Given the description of an element on the screen output the (x, y) to click on. 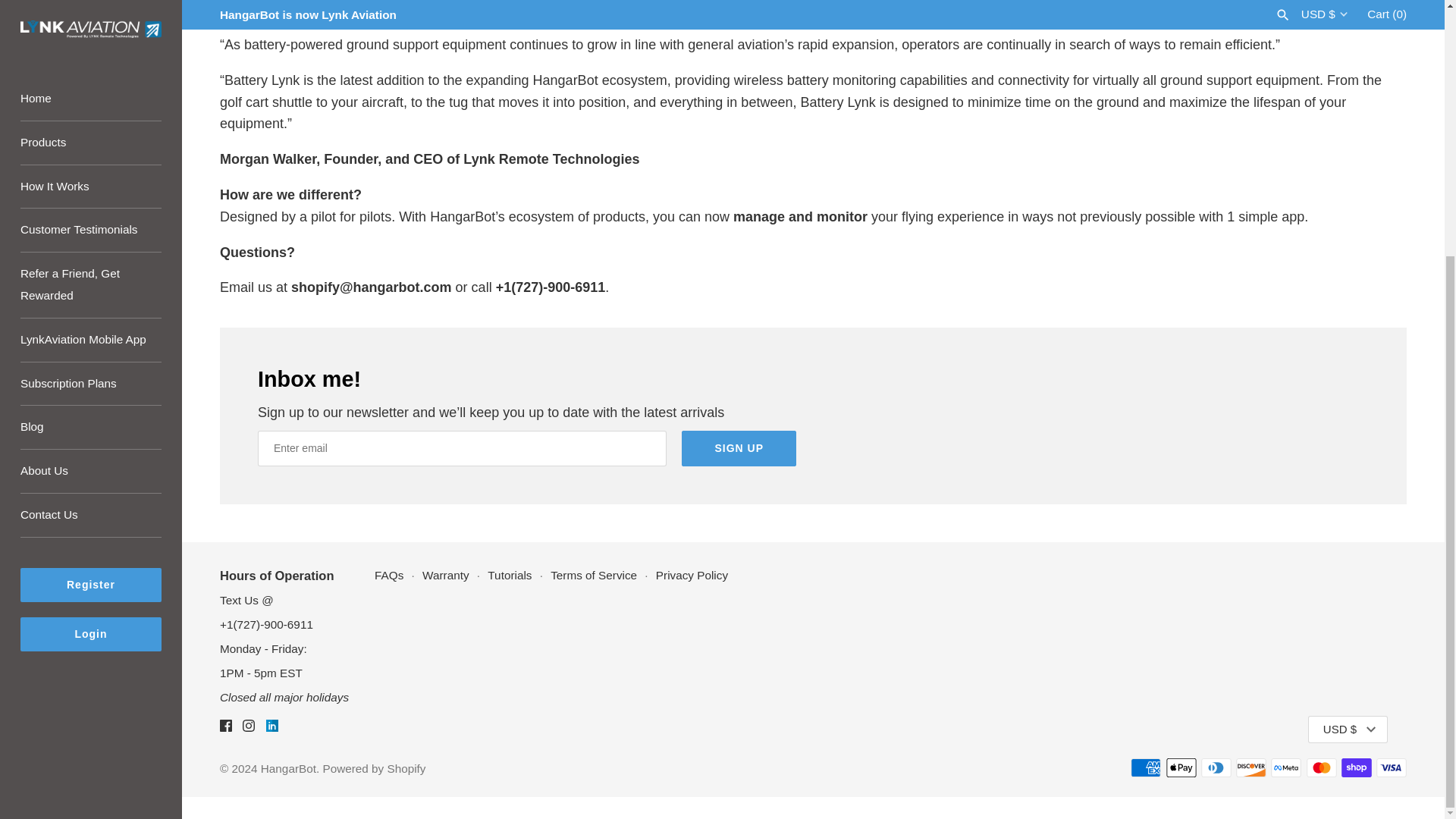
Diners Club (1216, 767)
American Express (1145, 767)
Shop Pay (1355, 767)
Meta Pay (1286, 767)
Apple Pay (1181, 767)
Facebook (225, 725)
Instagram (248, 725)
Discover (1251, 767)
Facebook (225, 729)
Mastercard (1321, 767)
Visa (1390, 767)
Instagram (248, 729)
